Given the description of an element on the screen output the (x, y) to click on. 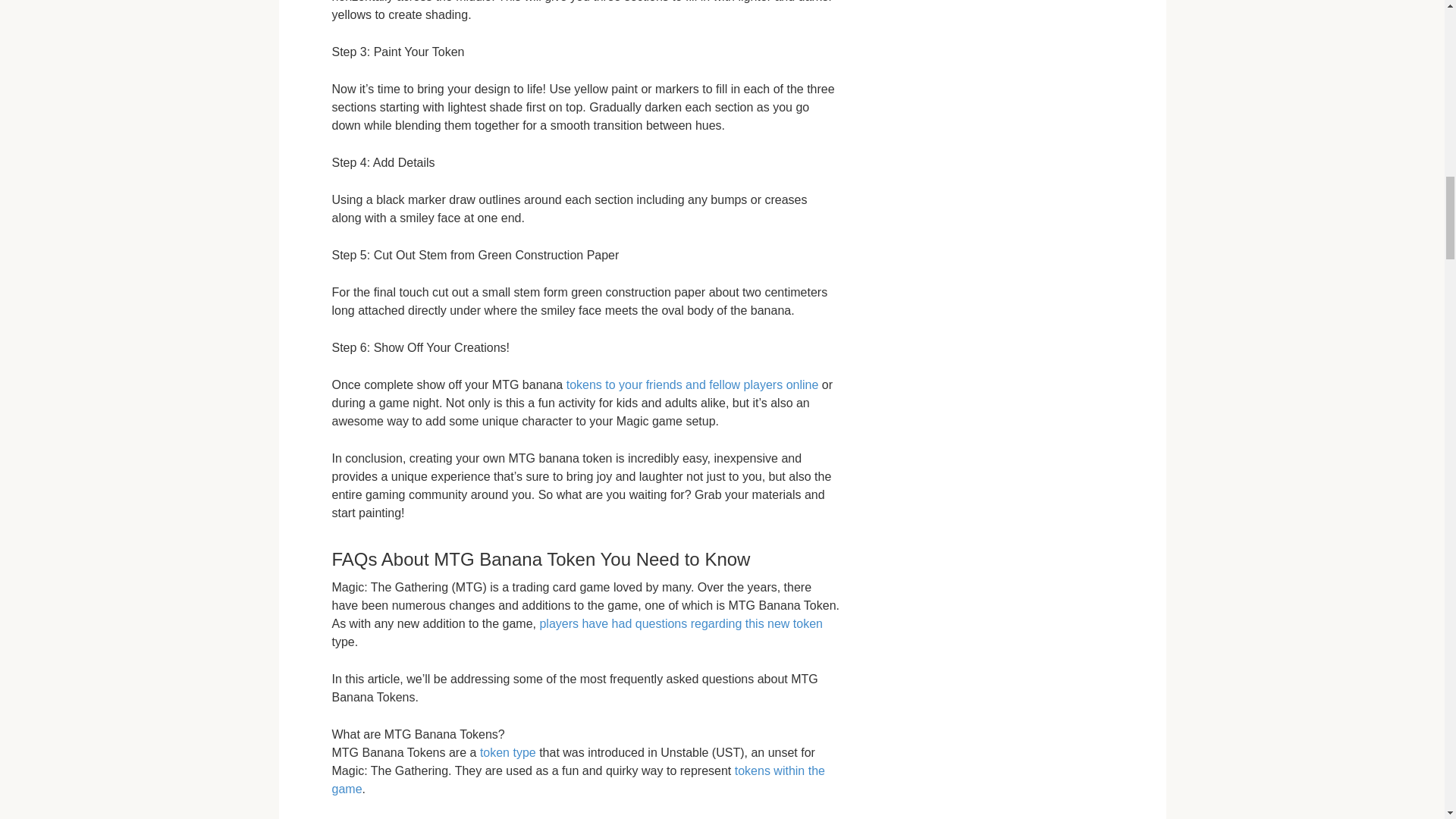
token type (507, 752)
players have had questions regarding this new token (680, 623)
tokens to your friends and fellow players online (692, 384)
tokens within the game (578, 779)
